Given the description of an element on the screen output the (x, y) to click on. 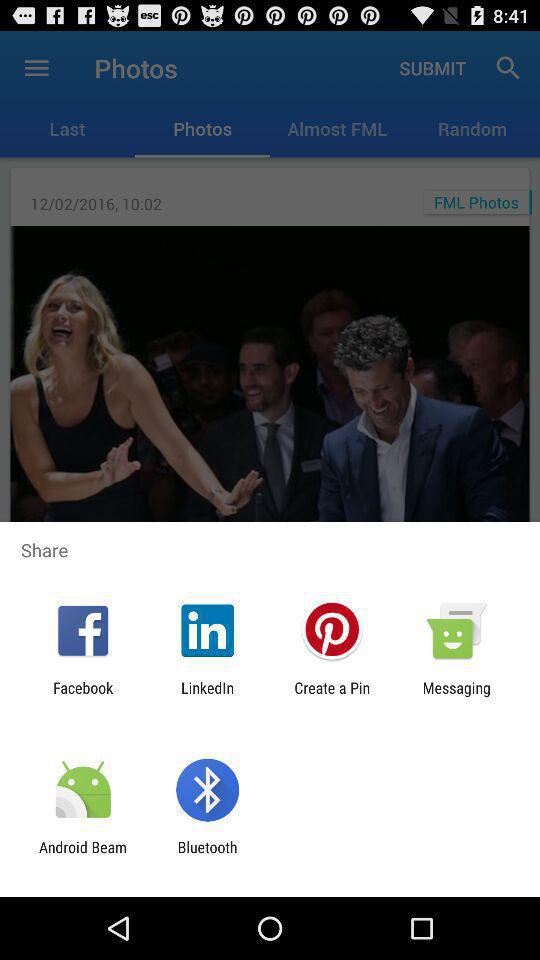
select the linkedin icon (207, 696)
